Given the description of an element on the screen output the (x, y) to click on. 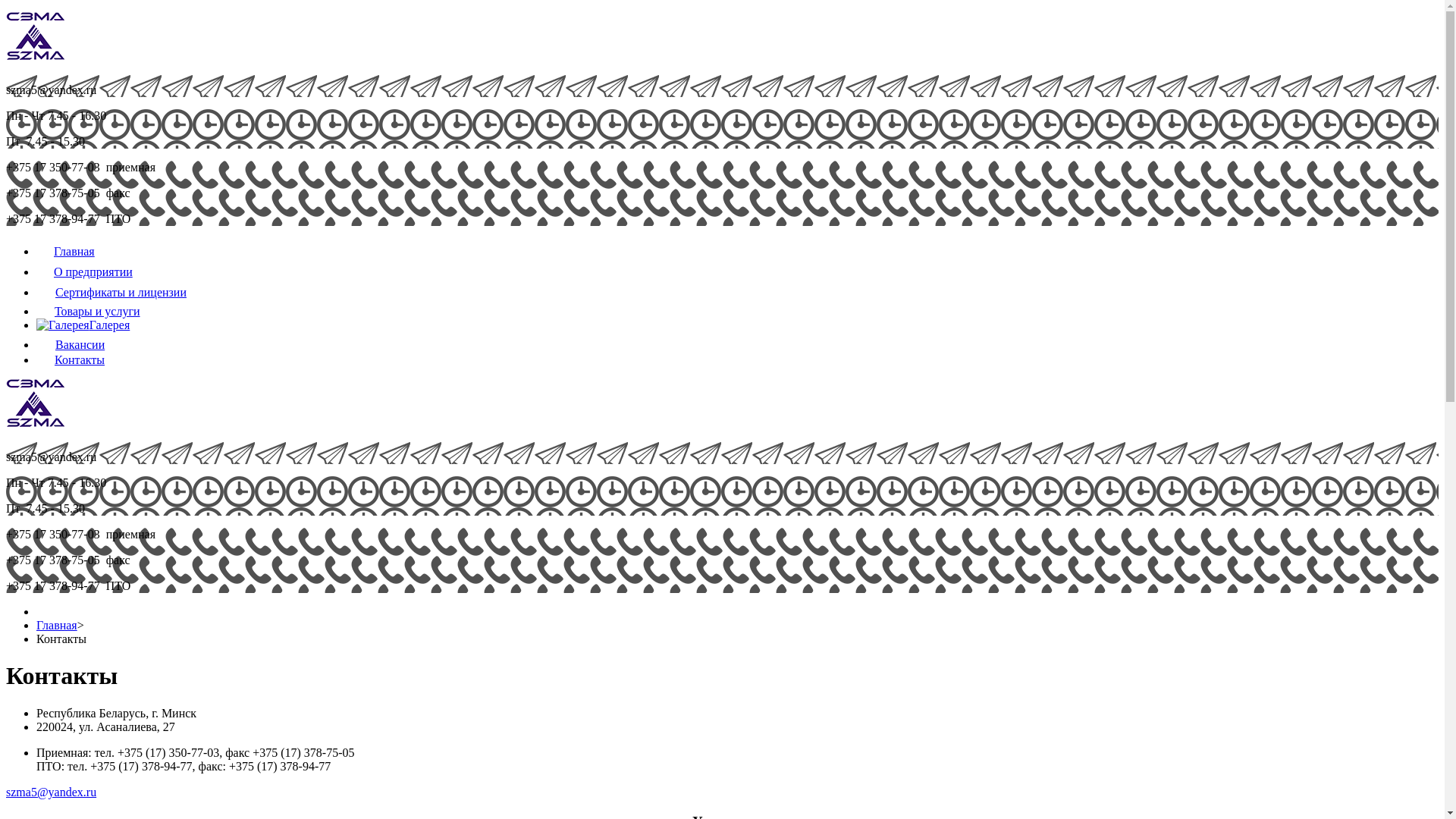
szma5@yandex.ru Element type: text (51, 791)
